Given the description of an element on the screen output the (x, y) to click on. 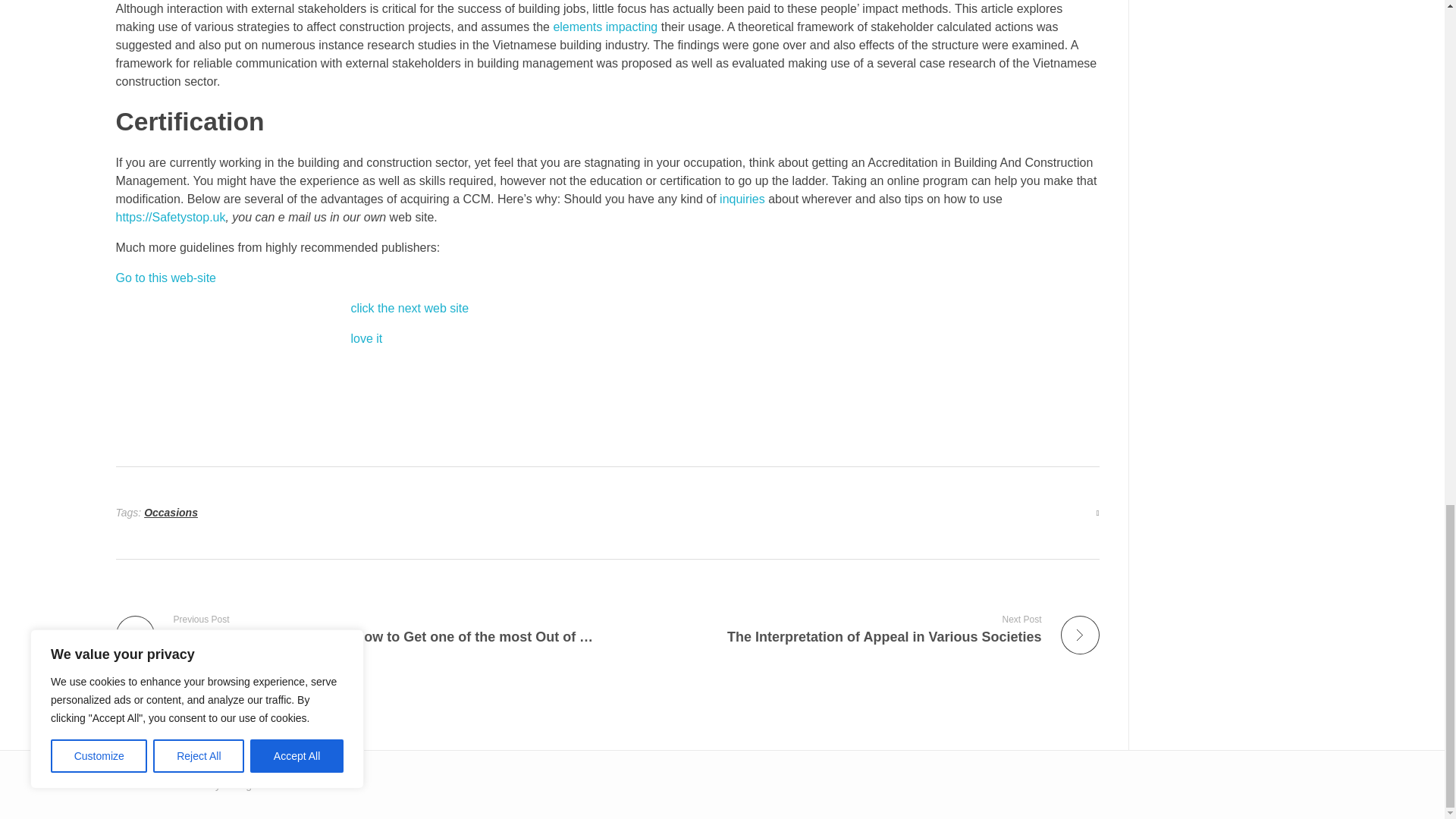
click the next web site (859, 628)
love it (409, 308)
Occasions (365, 338)
inquiries (171, 512)
Go to this web-site (742, 198)
elements impacting (165, 277)
